Given the description of an element on the screen output the (x, y) to click on. 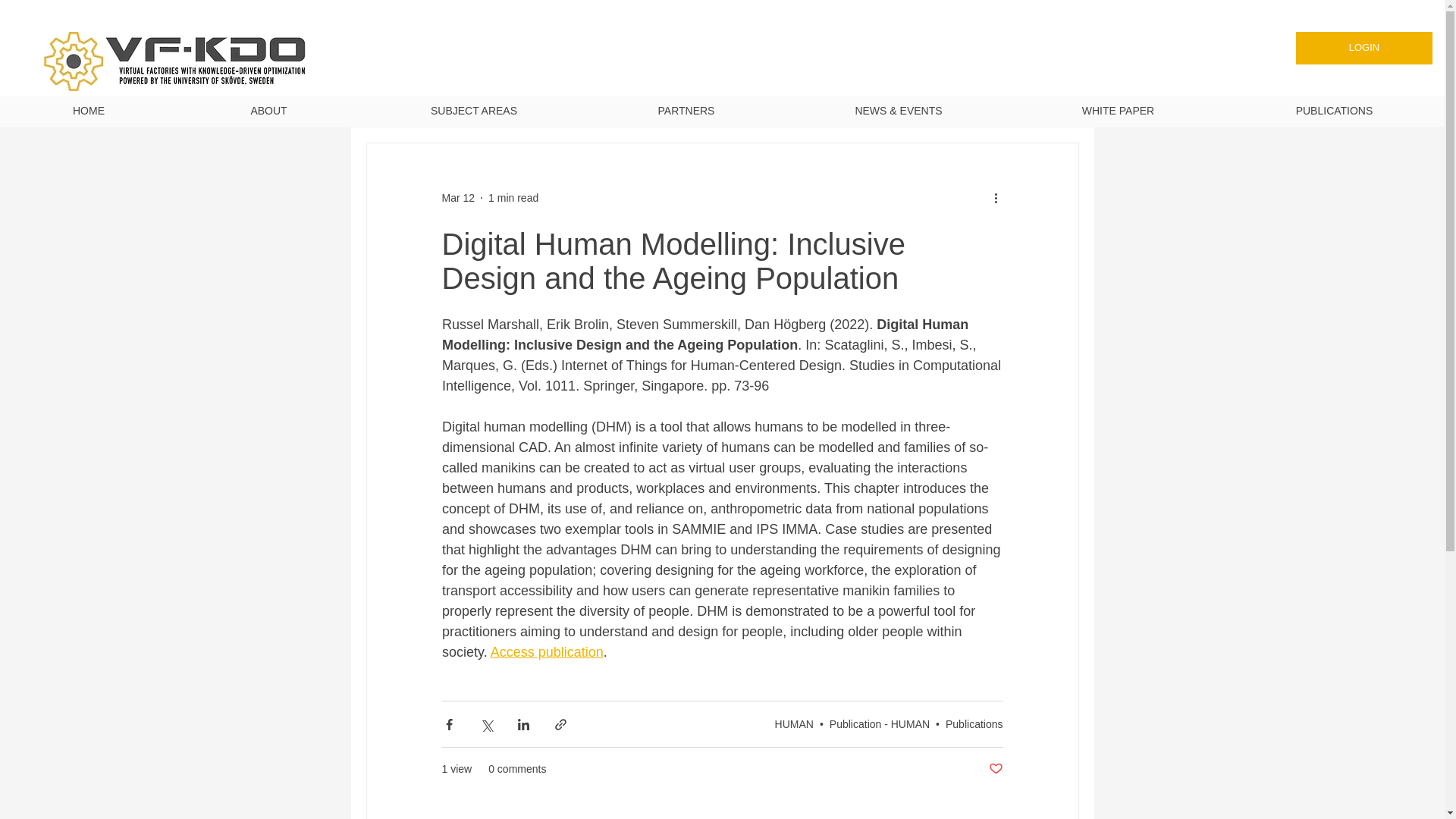
LOGIN (1363, 47)
ABOUT (268, 110)
Post not marked as liked (995, 769)
1 min read (512, 196)
Publications (973, 723)
Publication - HUMAN (879, 723)
Mar 12 (457, 196)
PARTNERS (686, 110)
Access publication (545, 652)
HUMAN (793, 723)
